Given the description of an element on the screen output the (x, y) to click on. 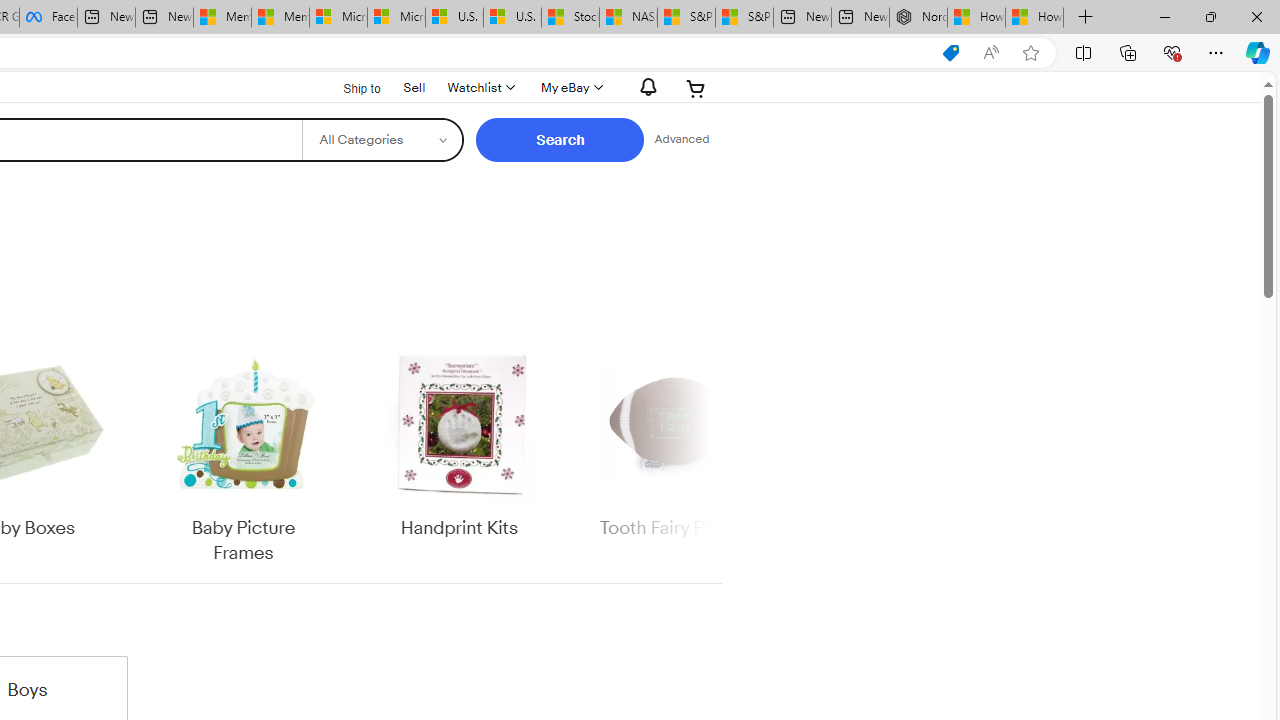
Sell (413, 86)
Browser essentials (1171, 52)
Collections (1128, 52)
Ship to (349, 89)
How to Use a Monitor With Your Closed Laptop (1034, 17)
Watchlist (479, 88)
Notifications (642, 87)
My eBayExpand My eBay (569, 88)
Close (1256, 16)
Read aloud this page (Ctrl+Shift+U) (991, 53)
S&P 500, Nasdaq end lower, weighed by Nvidia dip | Watch (744, 17)
Handprint Kits (459, 443)
